Given the description of an element on the screen output the (x, y) to click on. 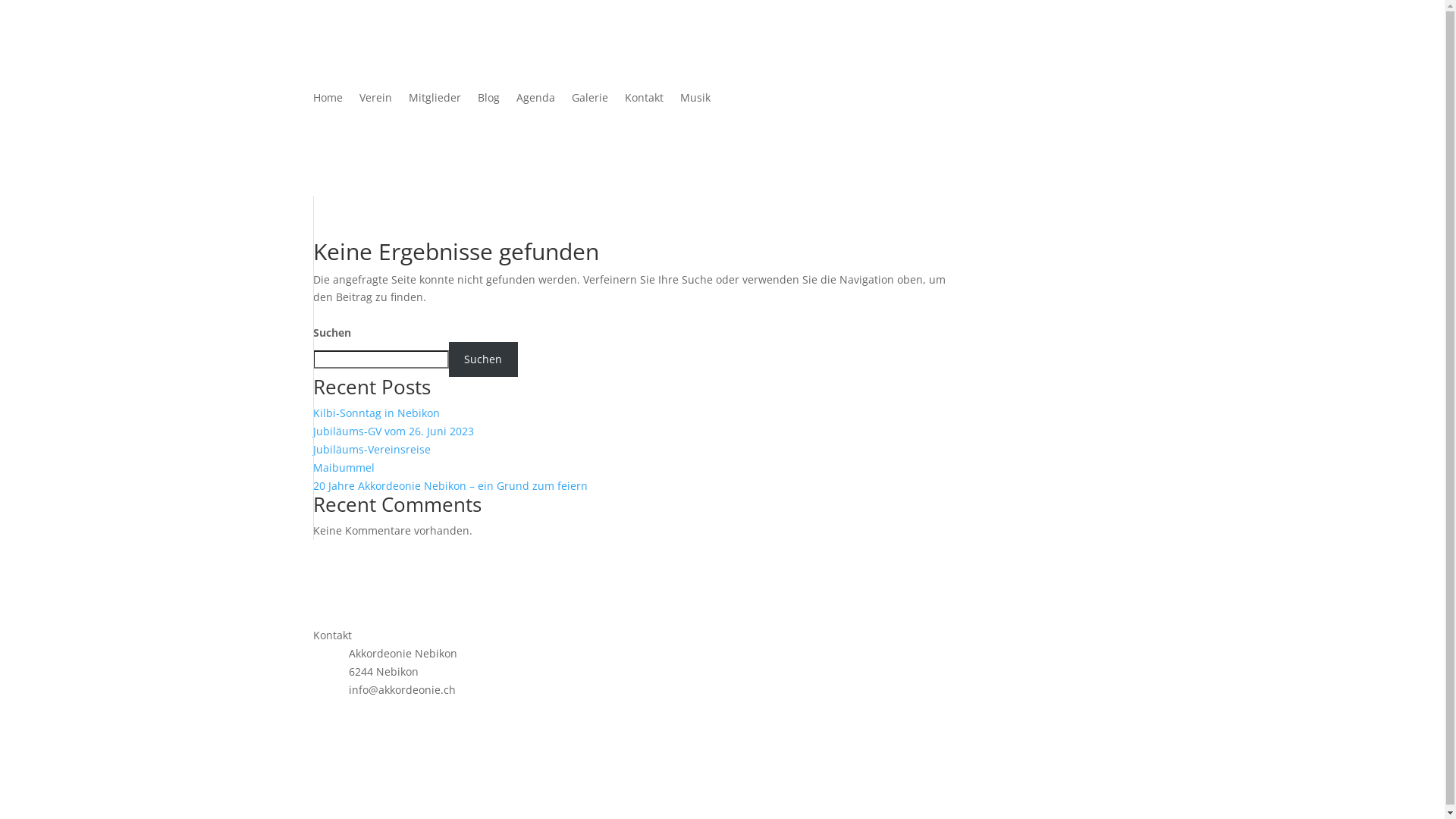
Galerie Element type: text (589, 100)
Agenda Element type: text (534, 100)
Suchen Element type: text (482, 359)
Folge auf Facebook Element type: hover (324, 717)
Verein Element type: text (375, 100)
Maibummel Element type: text (342, 467)
Home Element type: text (327, 100)
Mitglieder Element type: text (433, 100)
Kilbi-Sonntag in Nebikon Element type: text (375, 412)
Musik Element type: text (694, 100)
Blog Element type: text (488, 100)
Kontakt Element type: text (643, 100)
